Given the description of an element on the screen output the (x, y) to click on. 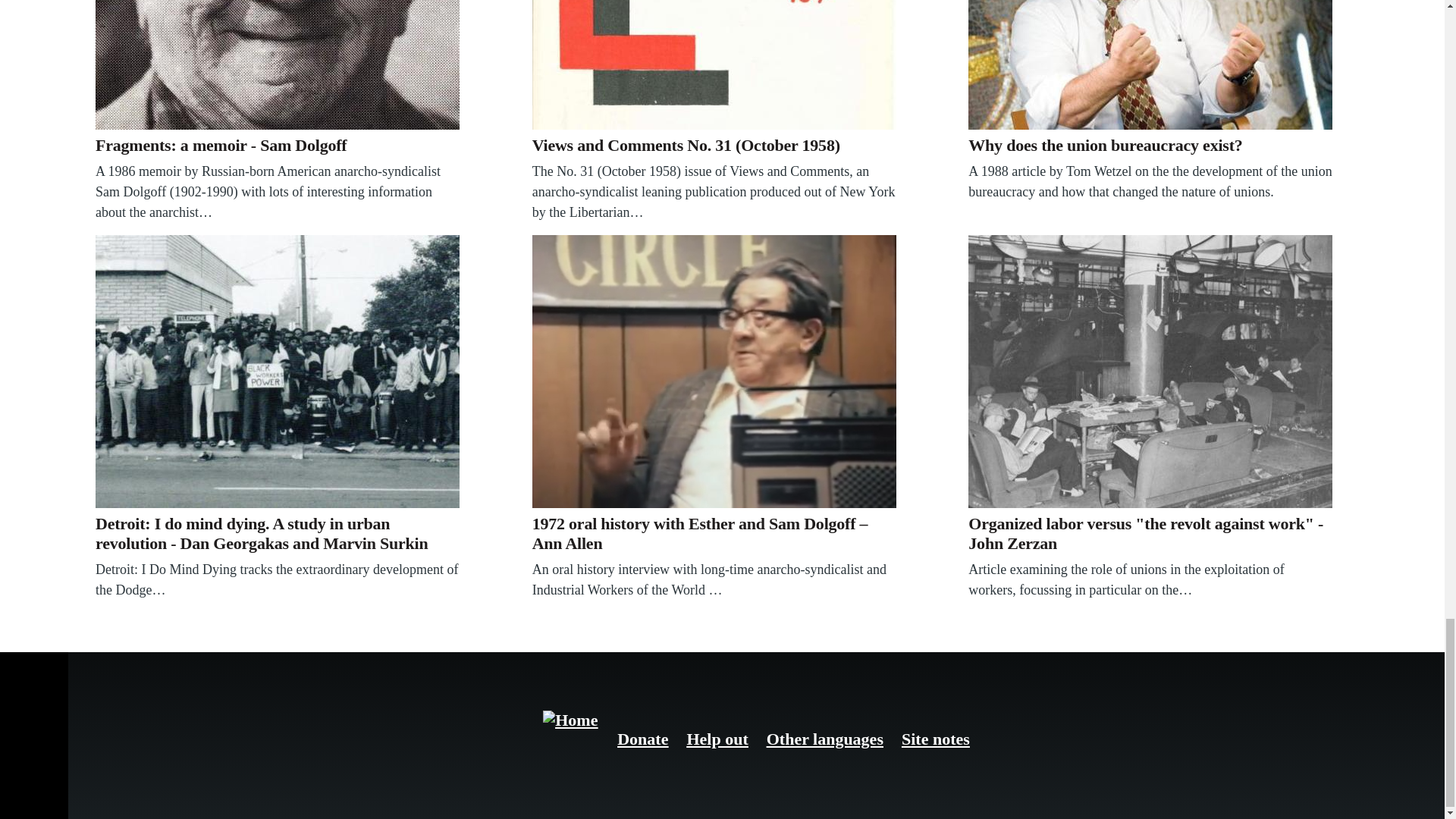
UAW sit-down strike in Flint, 1937 (1150, 371)
Richard Trumka, president of the AFL-CIO (1150, 64)
libcom content in languages other than English (825, 738)
Donate (642, 738)
Other languages (825, 738)
Help out (716, 738)
Sam Dolgoff (278, 64)
Black workers demonstrate (278, 371)
Site notes (935, 738)
